Given the description of an element on the screen output the (x, y) to click on. 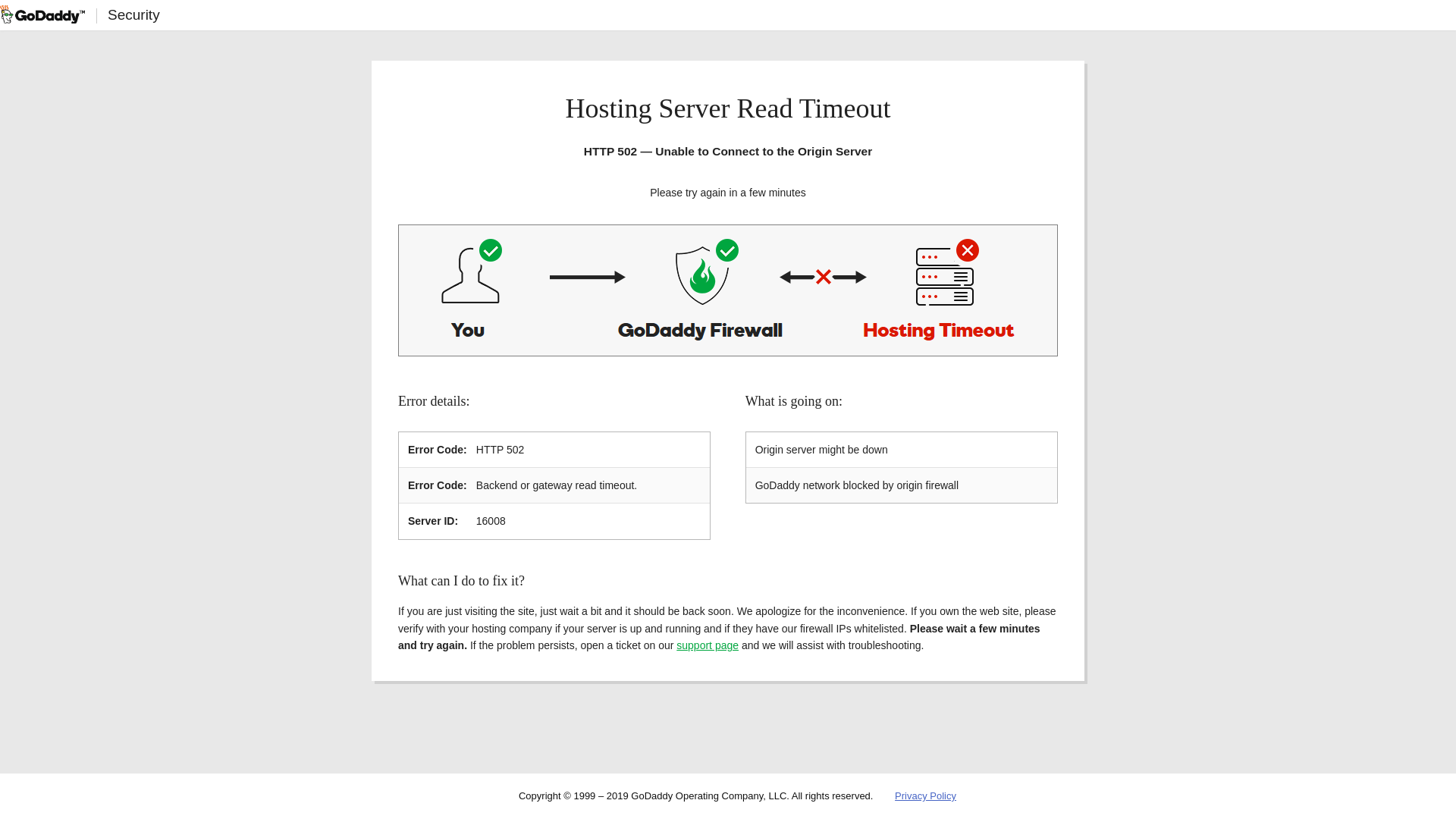
support page (707, 645)
Privacy Policy (925, 795)
